Given the description of an element on the screen output the (x, y) to click on. 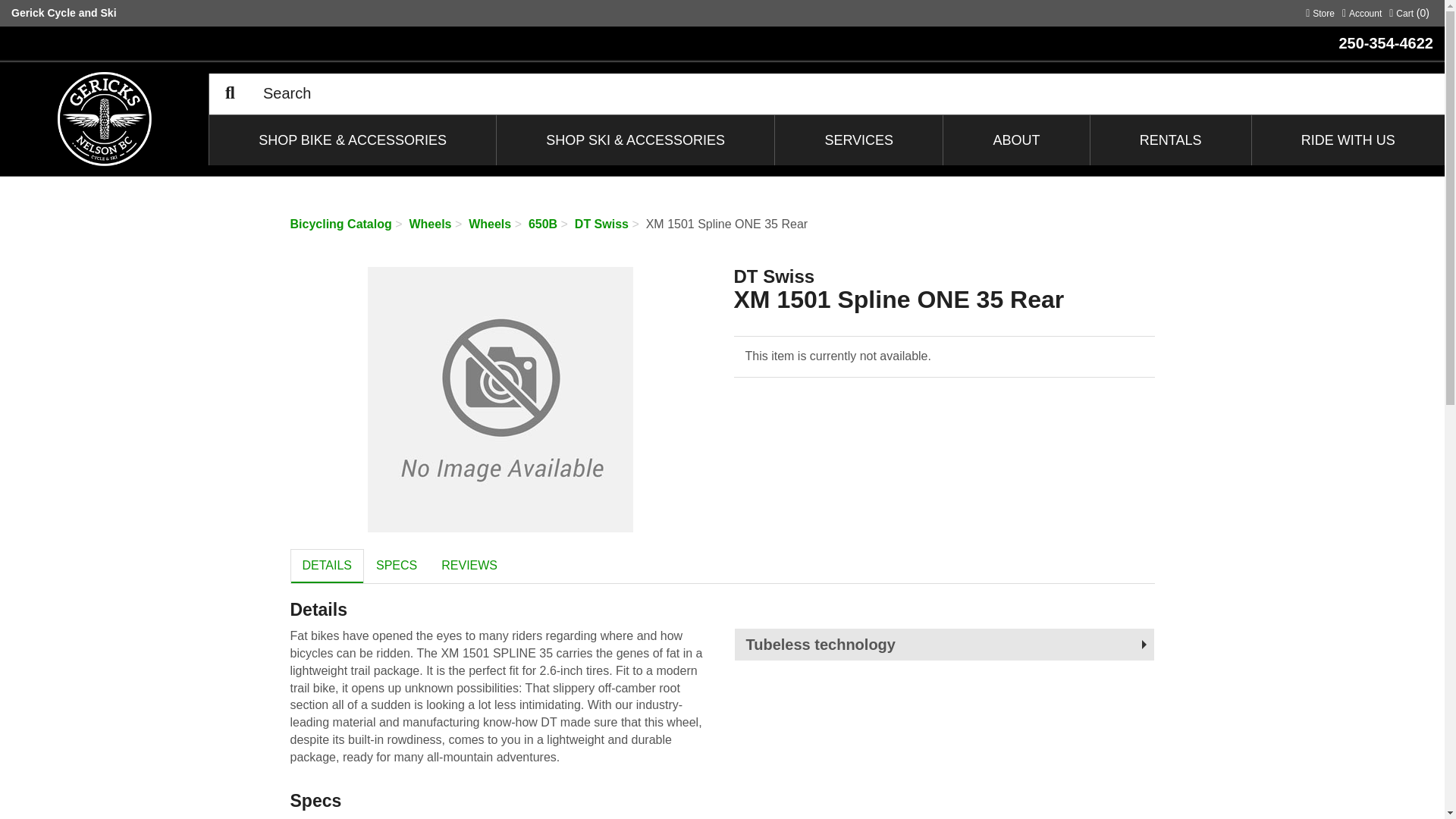
Search (229, 93)
Gerick Cycle and Ski (63, 11)
Store (1320, 11)
ABOUT (1016, 140)
Account (1361, 11)
Cart (1409, 11)
SERVICES (1320, 11)
Gerick Cycle and Ski Home Page (858, 140)
Gerick Cycle and Ski Home Page (1361, 11)
